Given the description of an element on the screen output the (x, y) to click on. 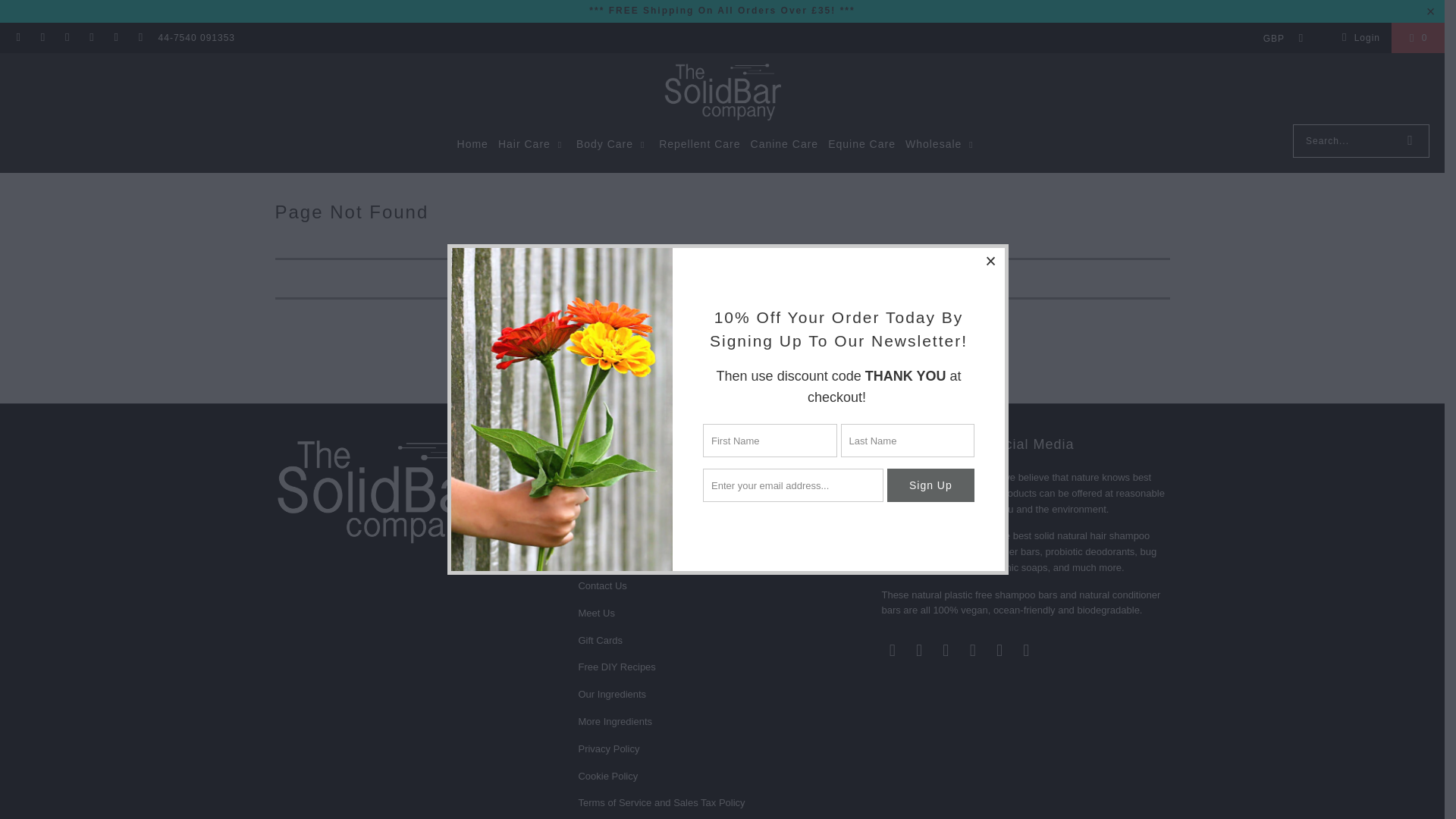
The Solid Bar Company on Pinterest (90, 37)
The Solid Bar Company (721, 92)
The Solid Bar Company on YouTube (1026, 650)
The Solid Bar Company on Twitter (115, 37)
Email The Solid Bar Company (17, 37)
The Solid Bar Company on YouTube (140, 37)
Sign Up (930, 485)
The Solid Bar Company on Pinterest (972, 650)
My Account  (1358, 38)
The Solid Bar Company on Twitter (999, 650)
The Solid Bar Company on Facebook (41, 37)
The Solid Bar Company on Instagram (67, 37)
The Solid Bar Company on Instagram (946, 650)
The Solid Bar Company on Facebook (919, 650)
Email The Solid Bar Company (892, 650)
